Given the description of an element on the screen output the (x, y) to click on. 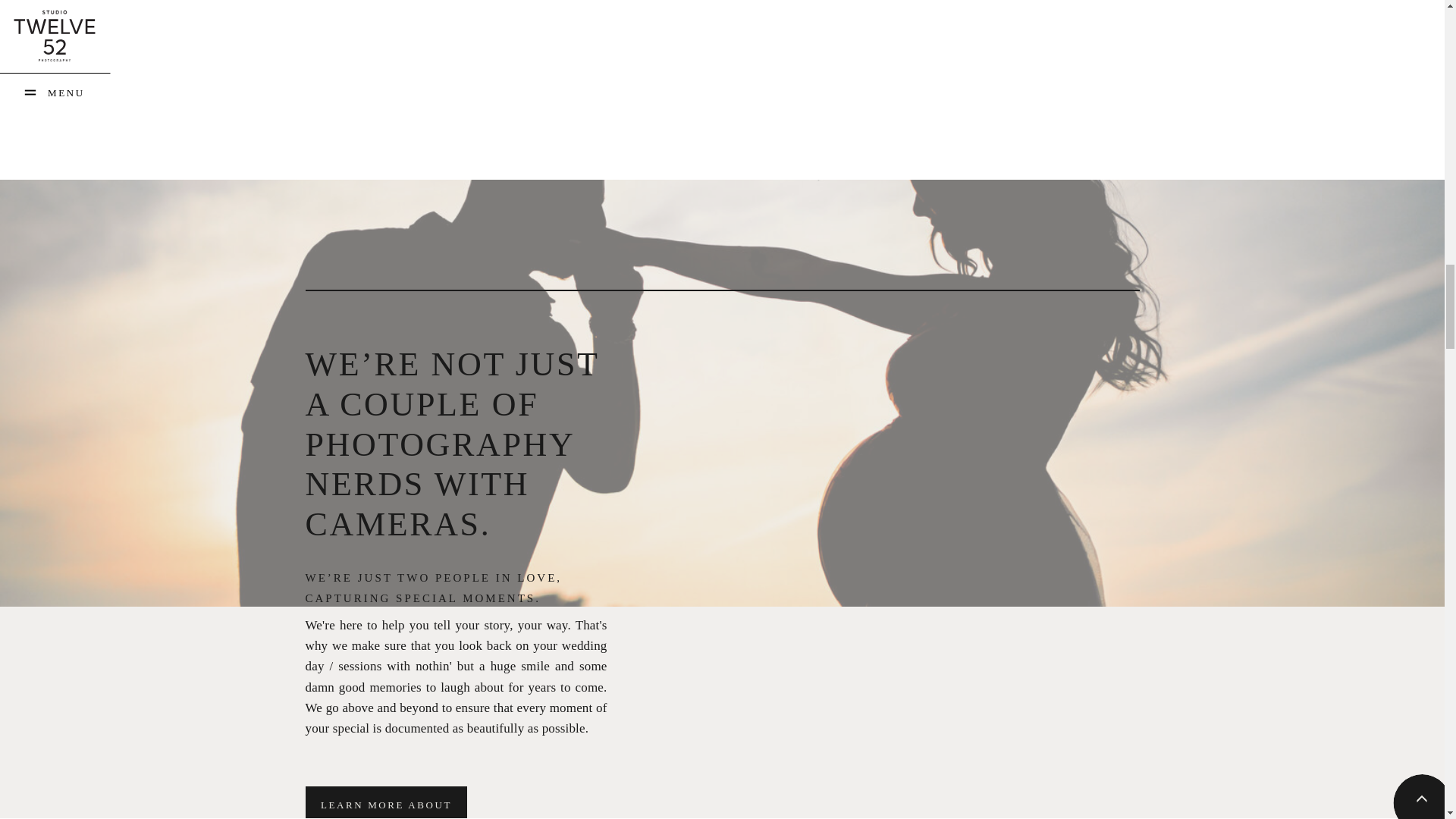
LEARN MORE ABOUT US (386, 802)
